Given the description of an element on the screen output the (x, y) to click on. 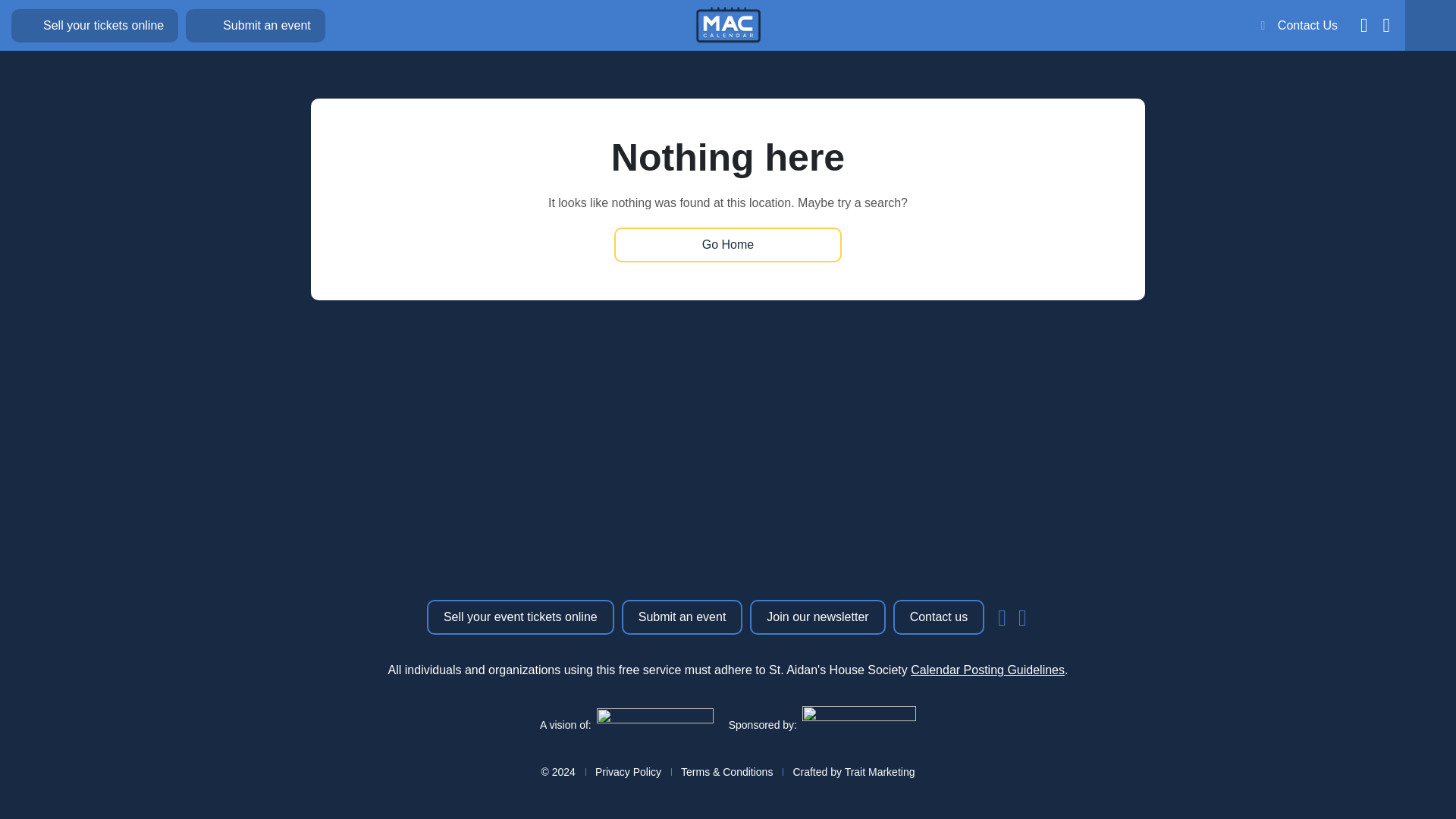
Search (1023, 468)
Submit an event (681, 616)
Trait Marketing (879, 771)
Go Home (727, 244)
Join our newsletter (817, 616)
Contact Us (1299, 25)
Sell your tickets online (94, 25)
Privacy Policy (628, 771)
Contact us (938, 616)
Sell your event tickets online (520, 616)
